Given the description of an element on the screen output the (x, y) to click on. 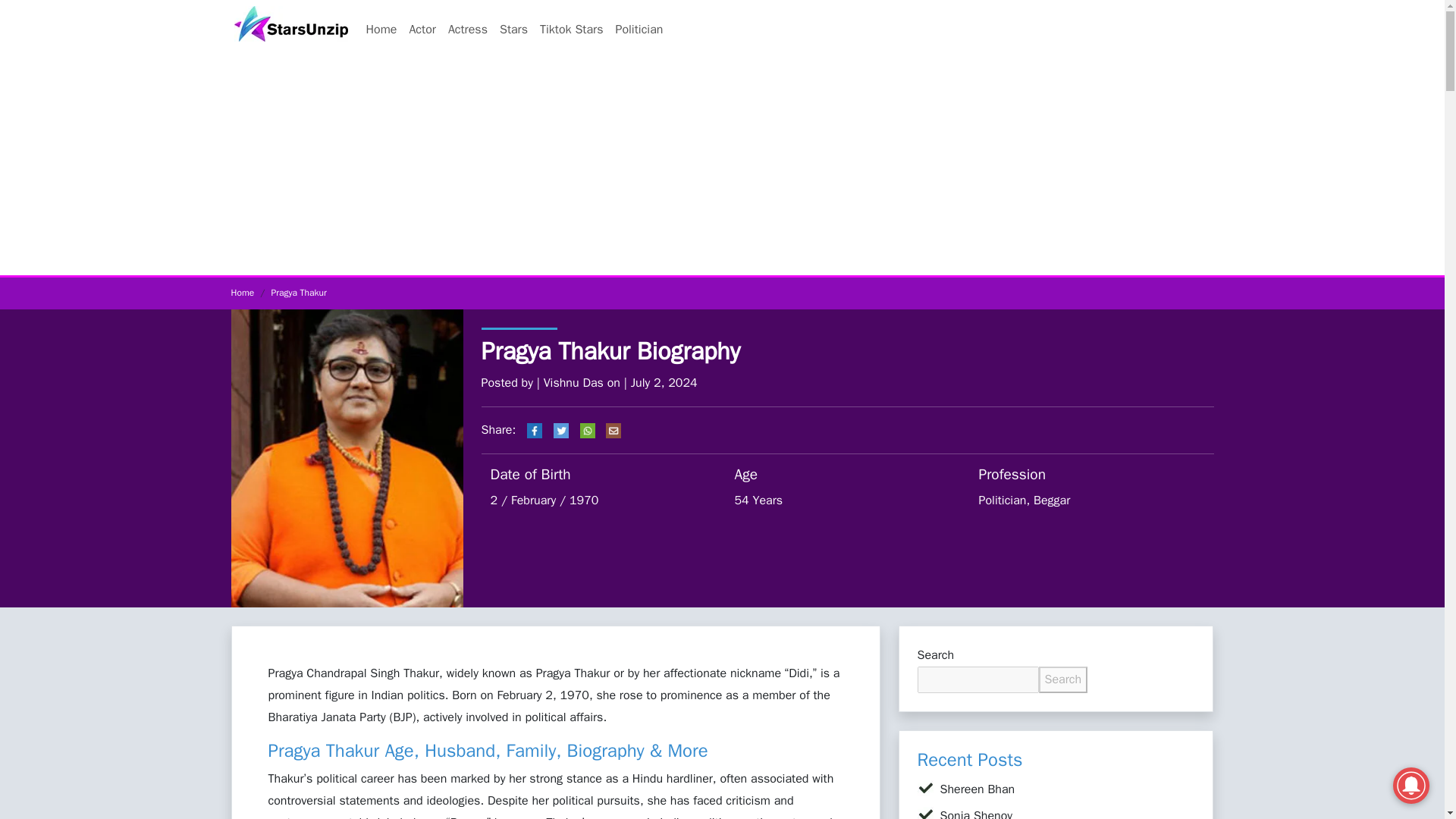
Stars (513, 29)
Actor (422, 29)
Politician (638, 29)
Sonia Shenoy (976, 813)
Home (381, 29)
Tiktok Stars (571, 29)
Shereen Bhan (977, 789)
Search (1063, 679)
Home (241, 292)
Actress (467, 29)
